Given the description of an element on the screen output the (x, y) to click on. 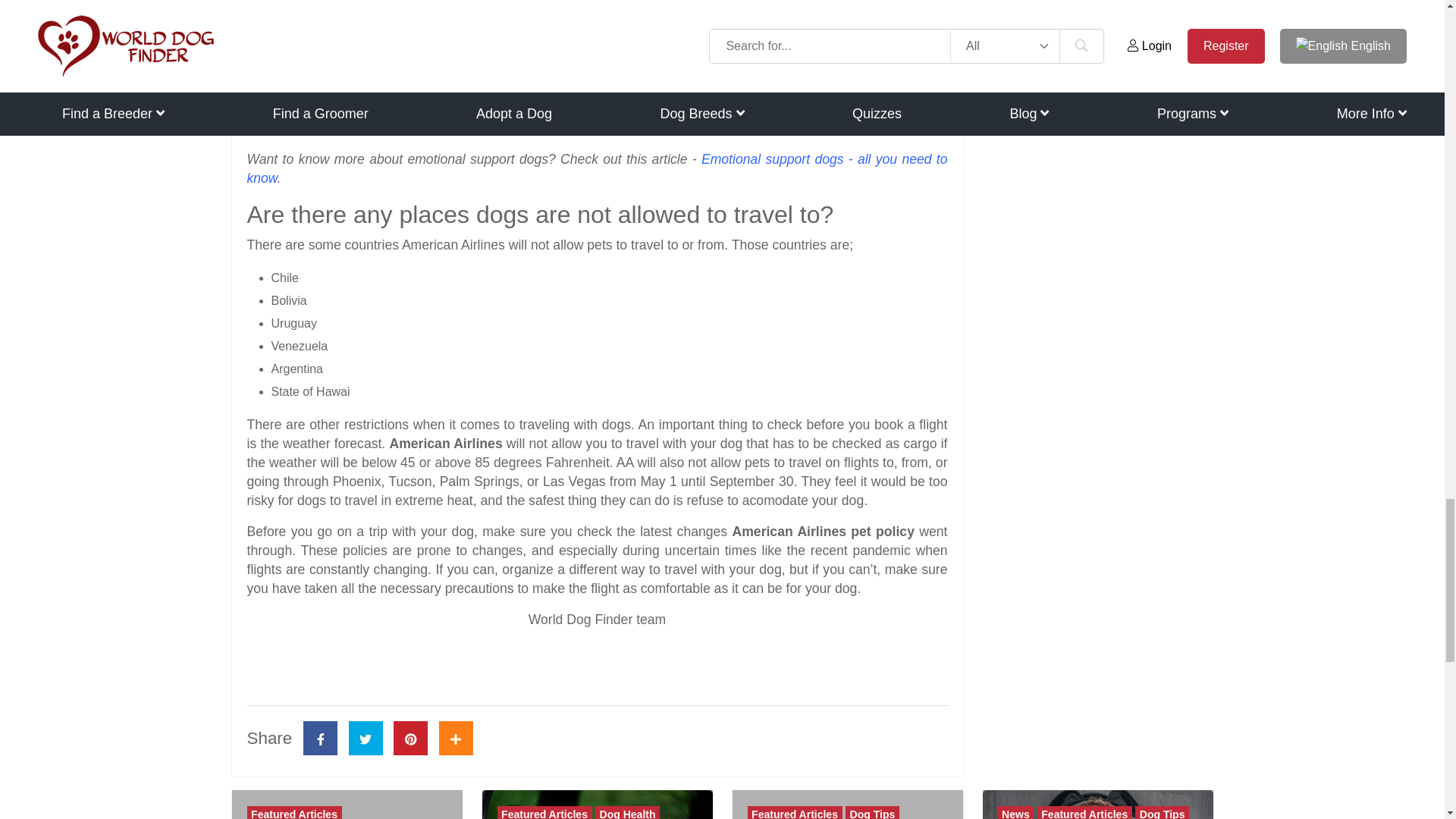
Share on Facebook (319, 738)
Share (456, 738)
Emotional support dogs (597, 168)
Tweet (365, 738)
Share on pinterest (410, 738)
